Given the description of an element on the screen output the (x, y) to click on. 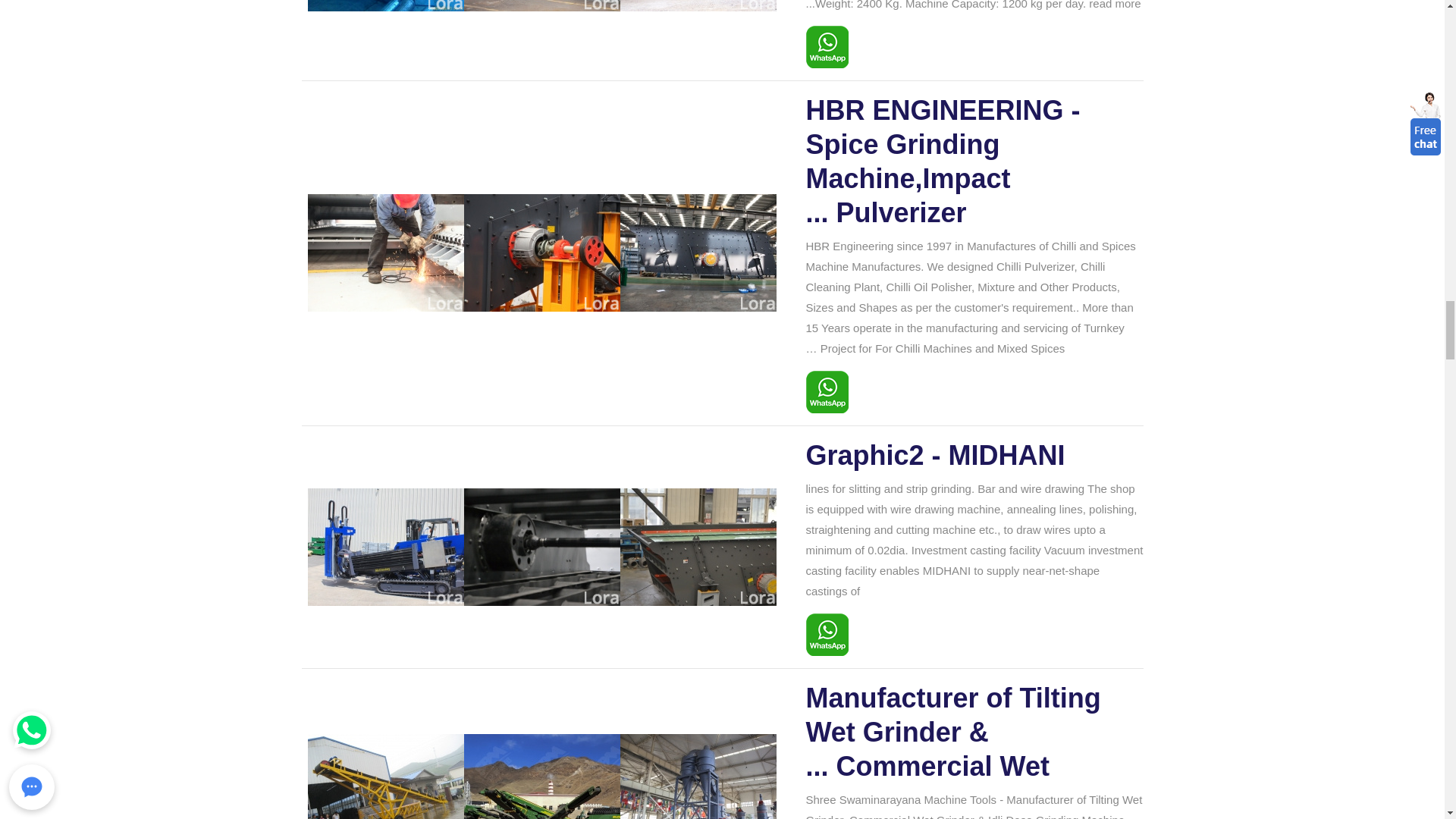
Graphic2 - MIDHANI (973, 455)
